Given the description of an element on the screen output the (x, y) to click on. 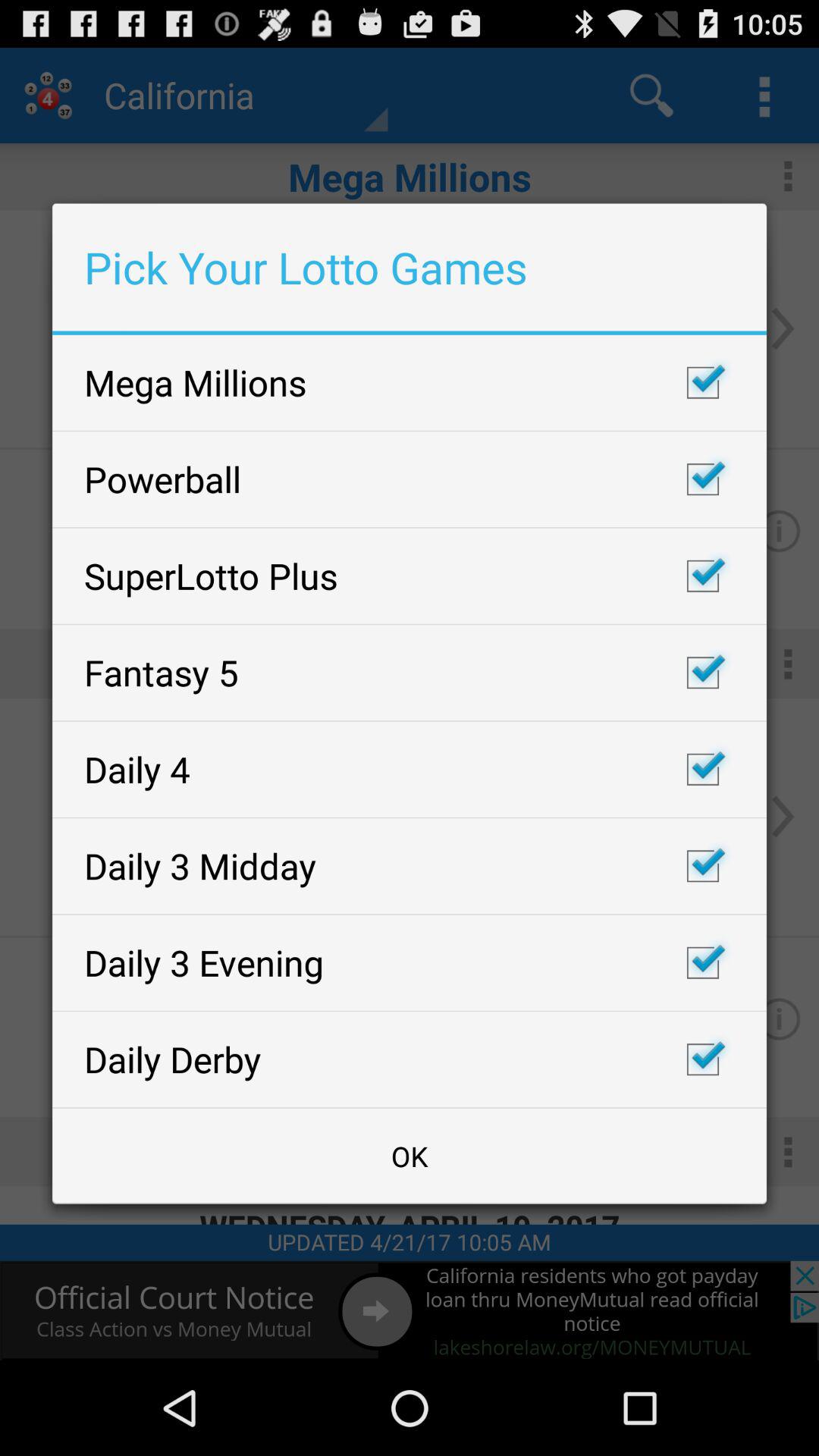
scroll to the ok (409, 1156)
